Given the description of an element on the screen output the (x, y) to click on. 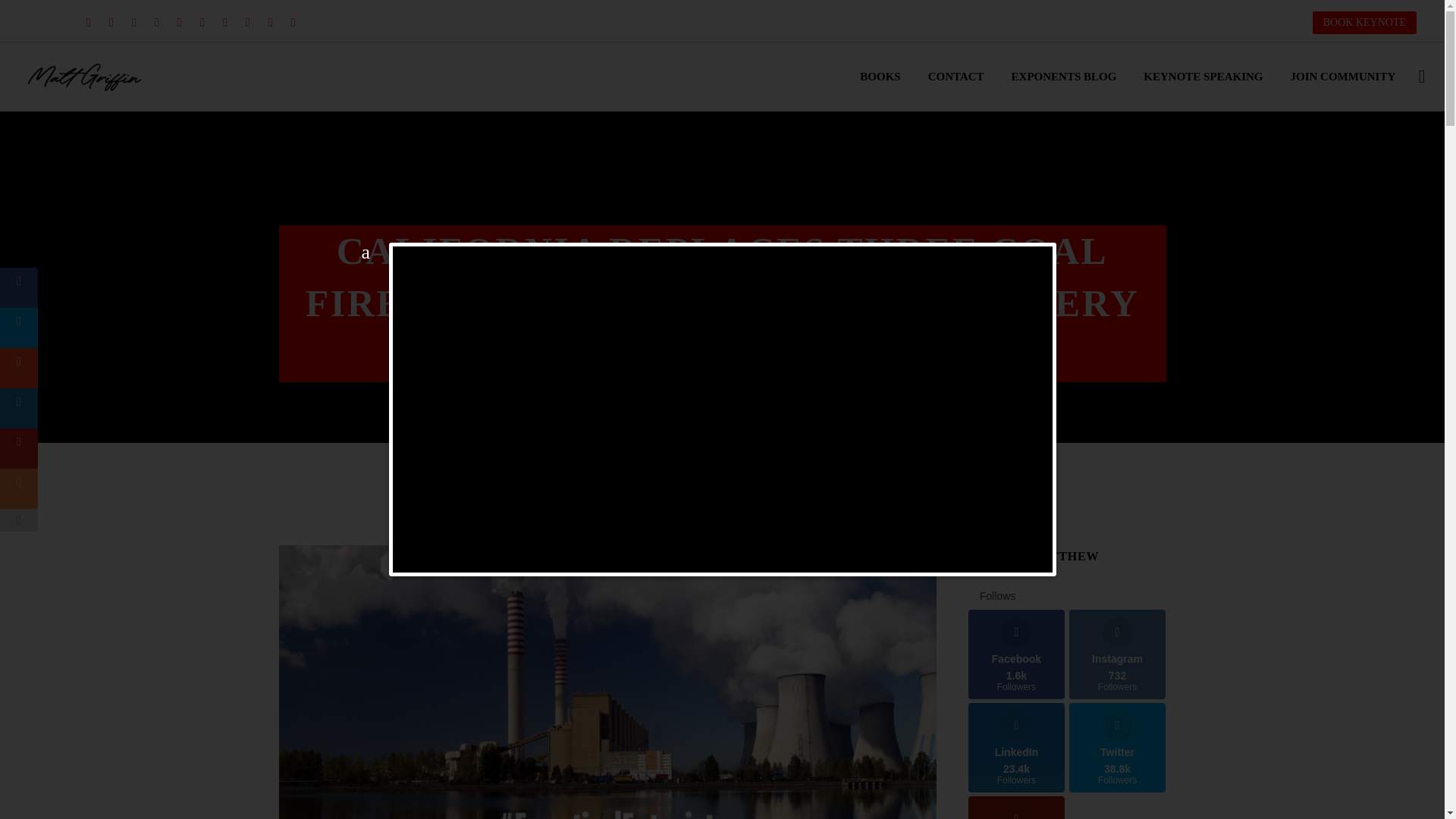
Share (247, 22)
JOIN COMMUNITY (1342, 76)
Instagram (156, 22)
CONTACT (956, 76)
EXPONENTS BLOG (1064, 76)
Spotify (270, 22)
BOOKS (879, 76)
Vimeo (202, 22)
RSS (179, 22)
TikTok (293, 22)
